Given the description of an element on the screen output the (x, y) to click on. 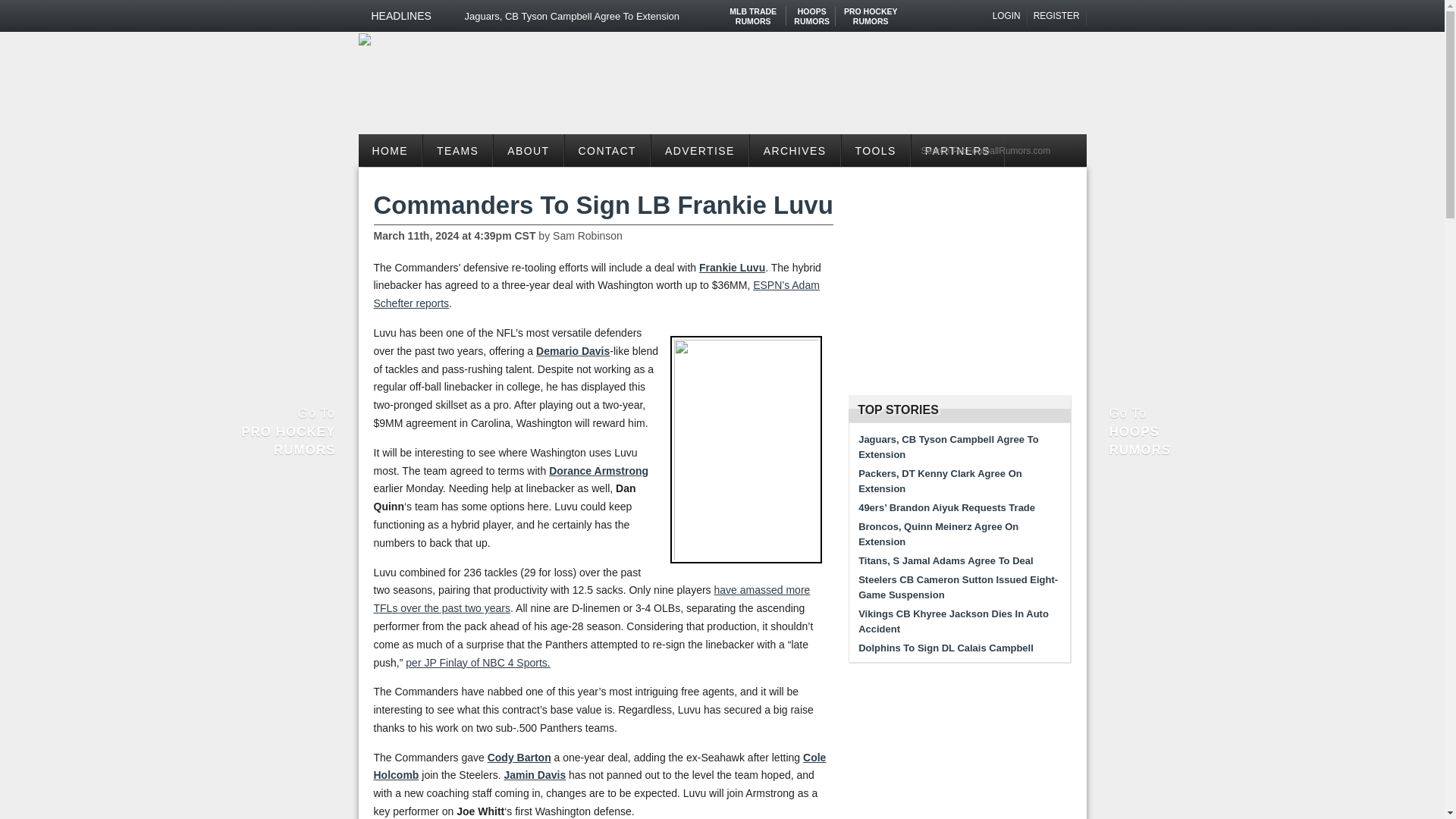
TEAMS (457, 150)
LOGIN (1007, 16)
Jaguars, CB Tyson Campbell Agree To Extension (610, 16)
HOME (390, 150)
REGISTER (811, 11)
Search (870, 11)
Pro Football Rumors (753, 11)
Search for: (1056, 16)
